Given the description of an element on the screen output the (x, y) to click on. 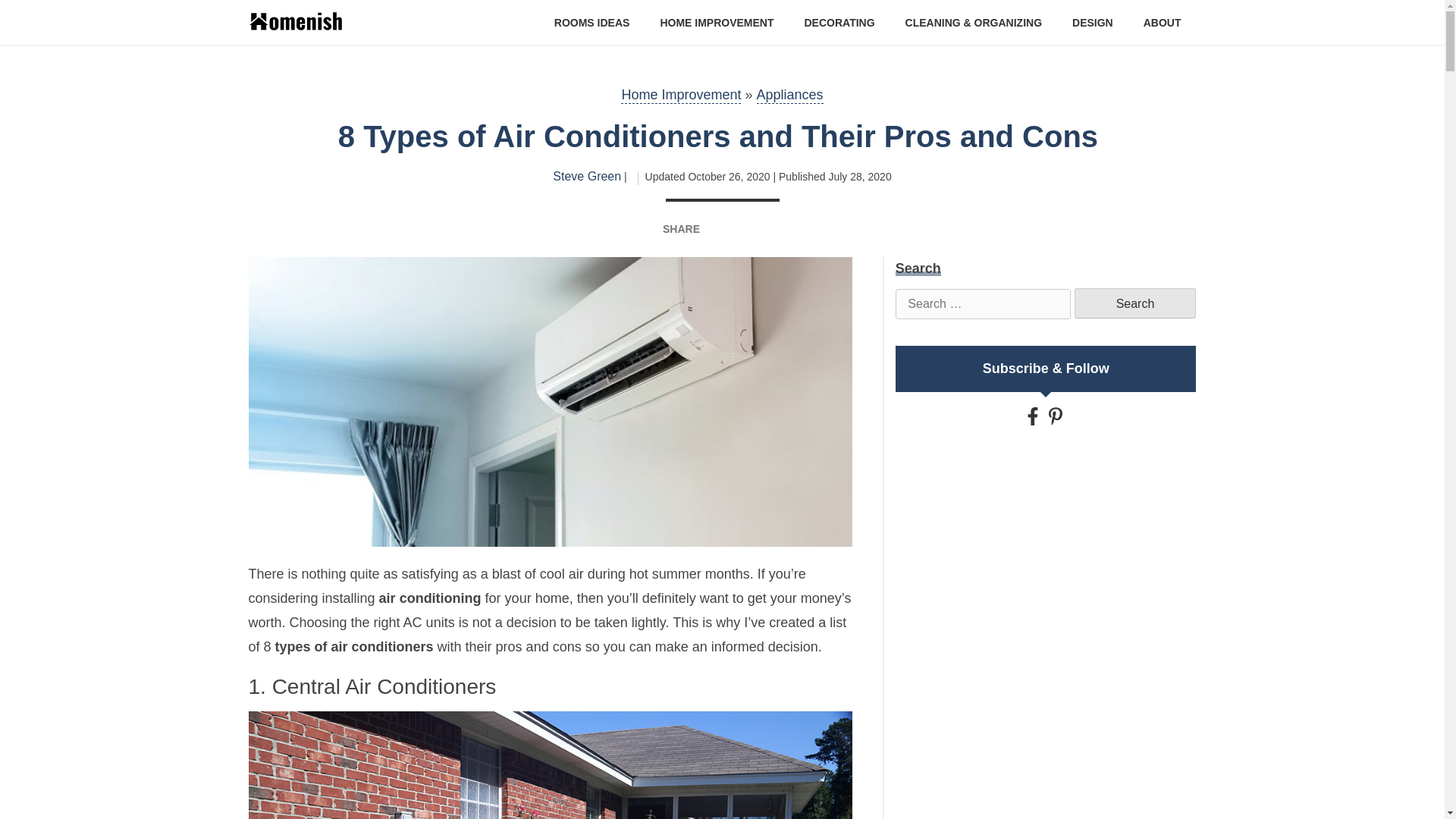
Search (1134, 303)
ROOMS IDEAS (592, 22)
Search (1134, 303)
HOME IMPROVEMENT (716, 22)
